Given the description of an element on the screen output the (x, y) to click on. 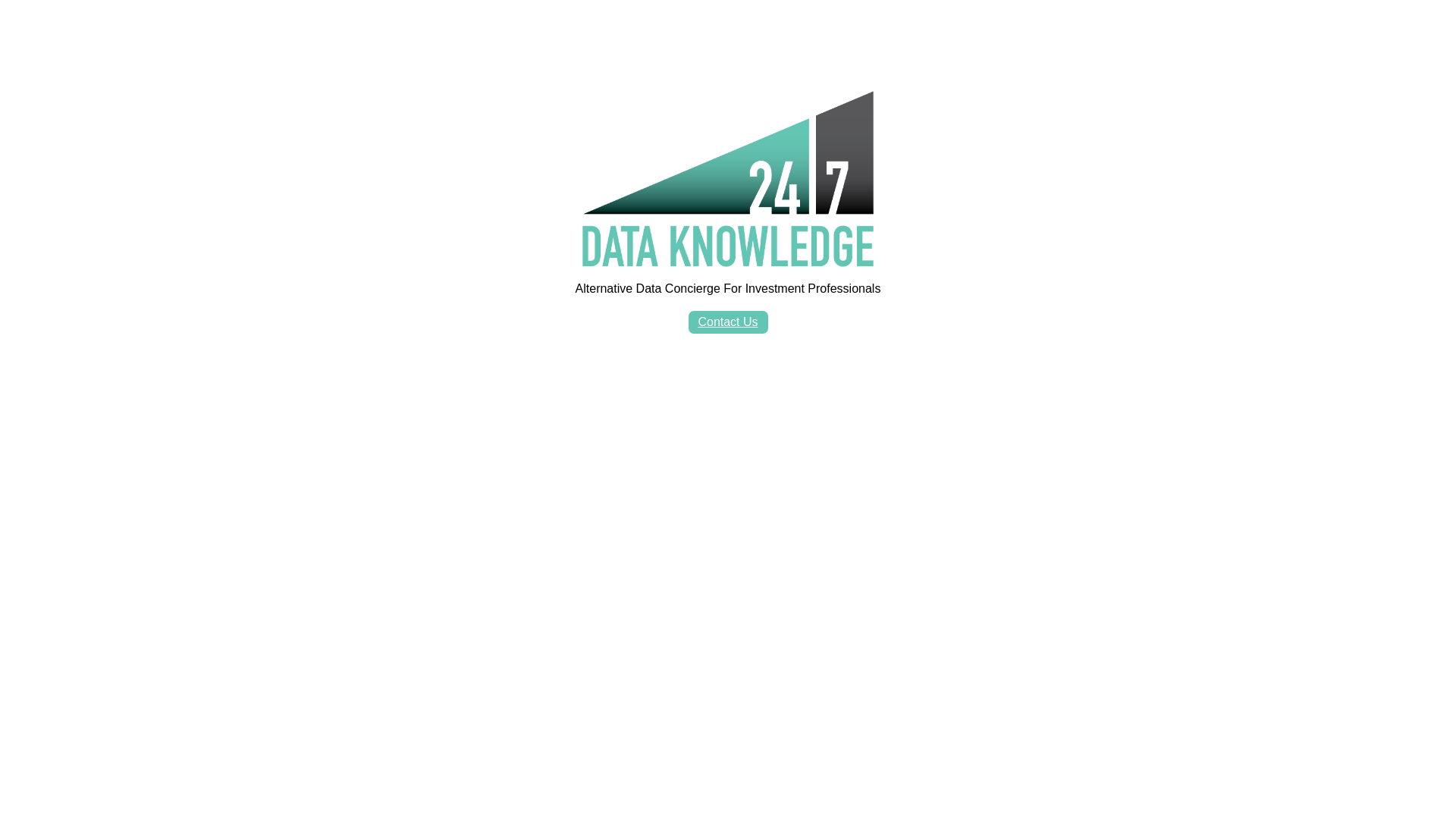
Contact Us Element type: text (728, 321)
